Given the description of an element on the screen output the (x, y) to click on. 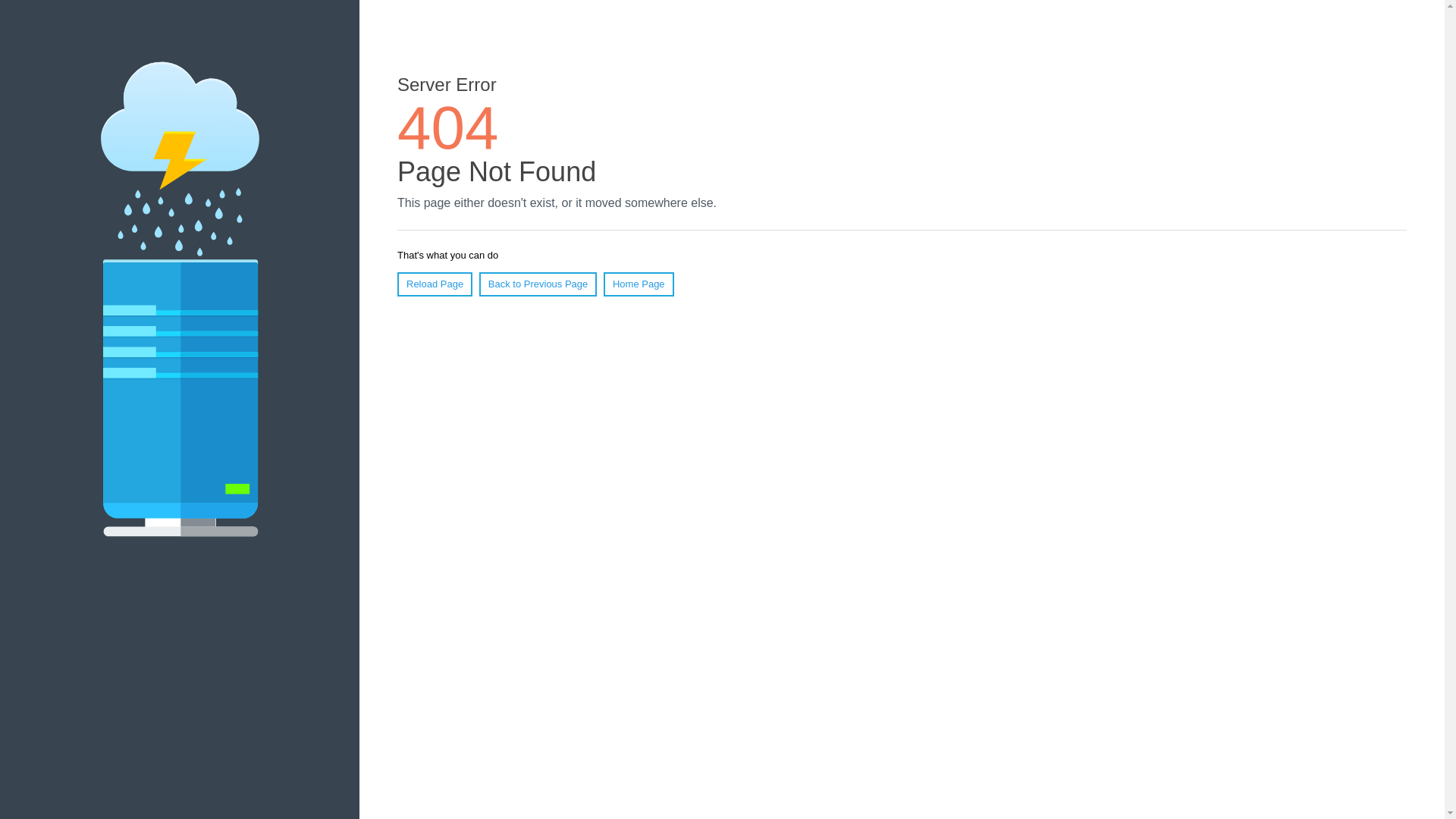
Back to Previous Page Element type: text (538, 284)
Home Page Element type: text (638, 284)
Reload Page Element type: text (434, 284)
